Given the description of an element on the screen output the (x, y) to click on. 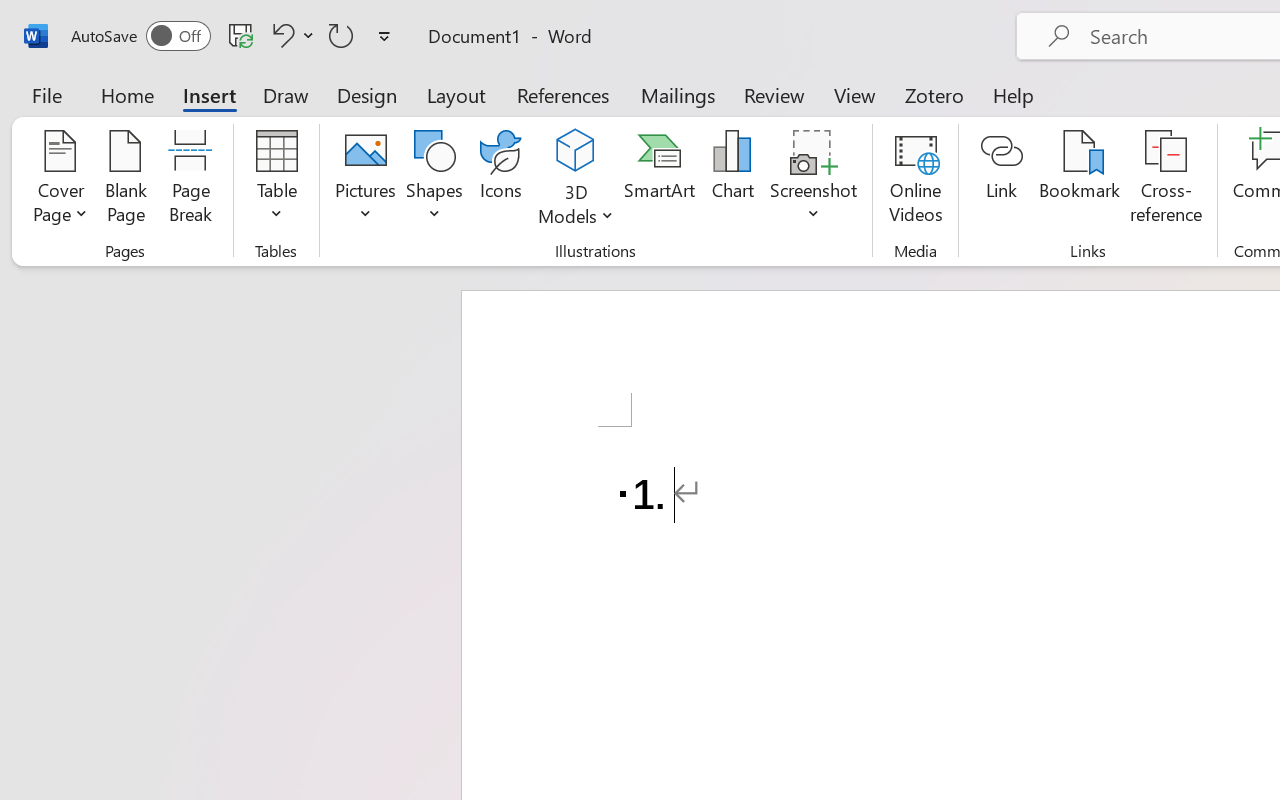
Chart... (732, 179)
3D Models (576, 179)
Icons (500, 179)
Bookmark... (1079, 179)
Table (276, 179)
Shapes (435, 179)
3D Models (576, 151)
